Given the description of an element on the screen output the (x, y) to click on. 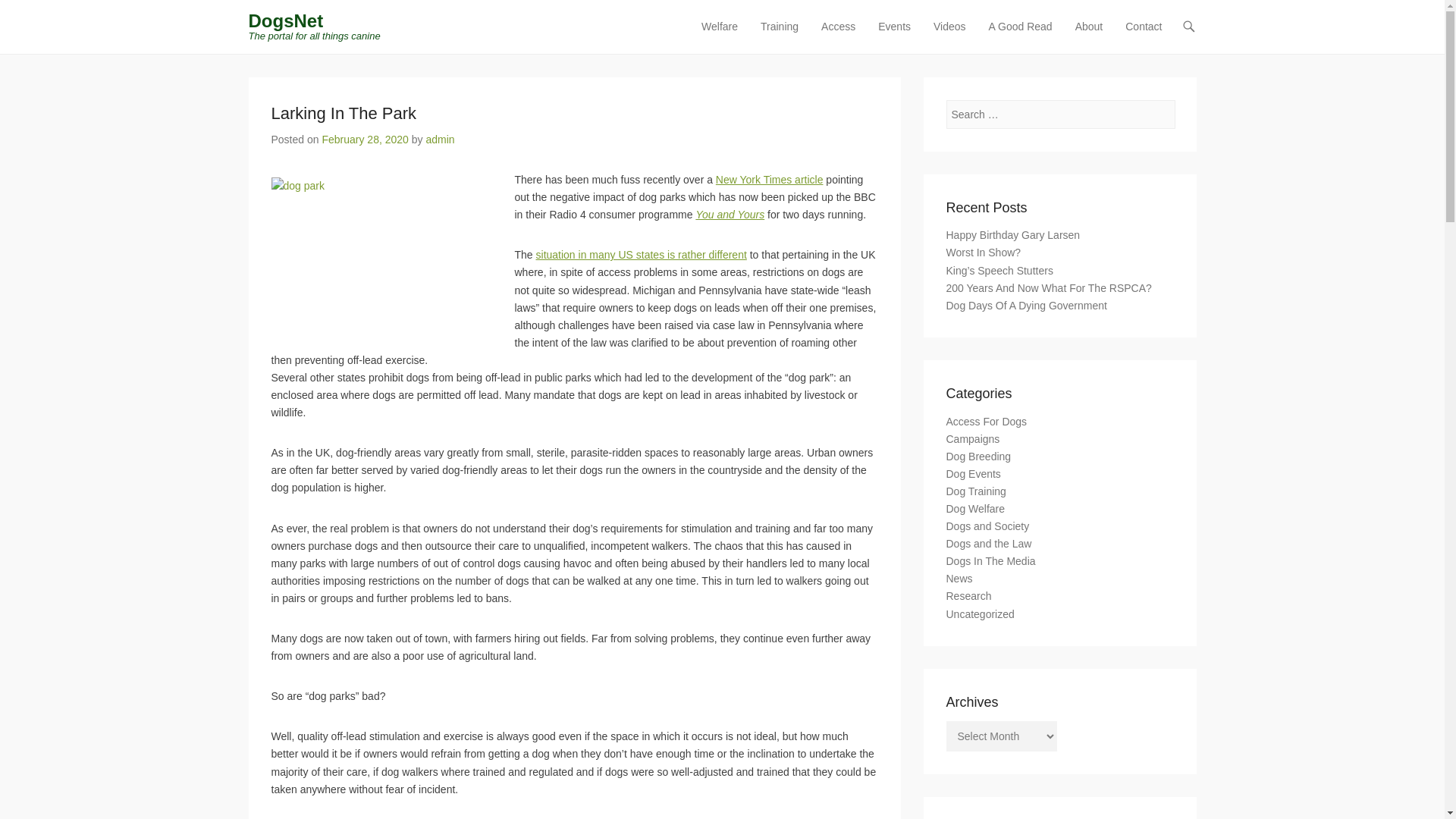
Access (838, 35)
Skip to content (729, 27)
Training (779, 35)
Events (894, 35)
DogsNet (285, 20)
Contact (1143, 35)
Skip to content (729, 27)
A Good Read (1020, 35)
DogsNet (285, 20)
Videos (950, 35)
